Given the description of an element on the screen output the (x, y) to click on. 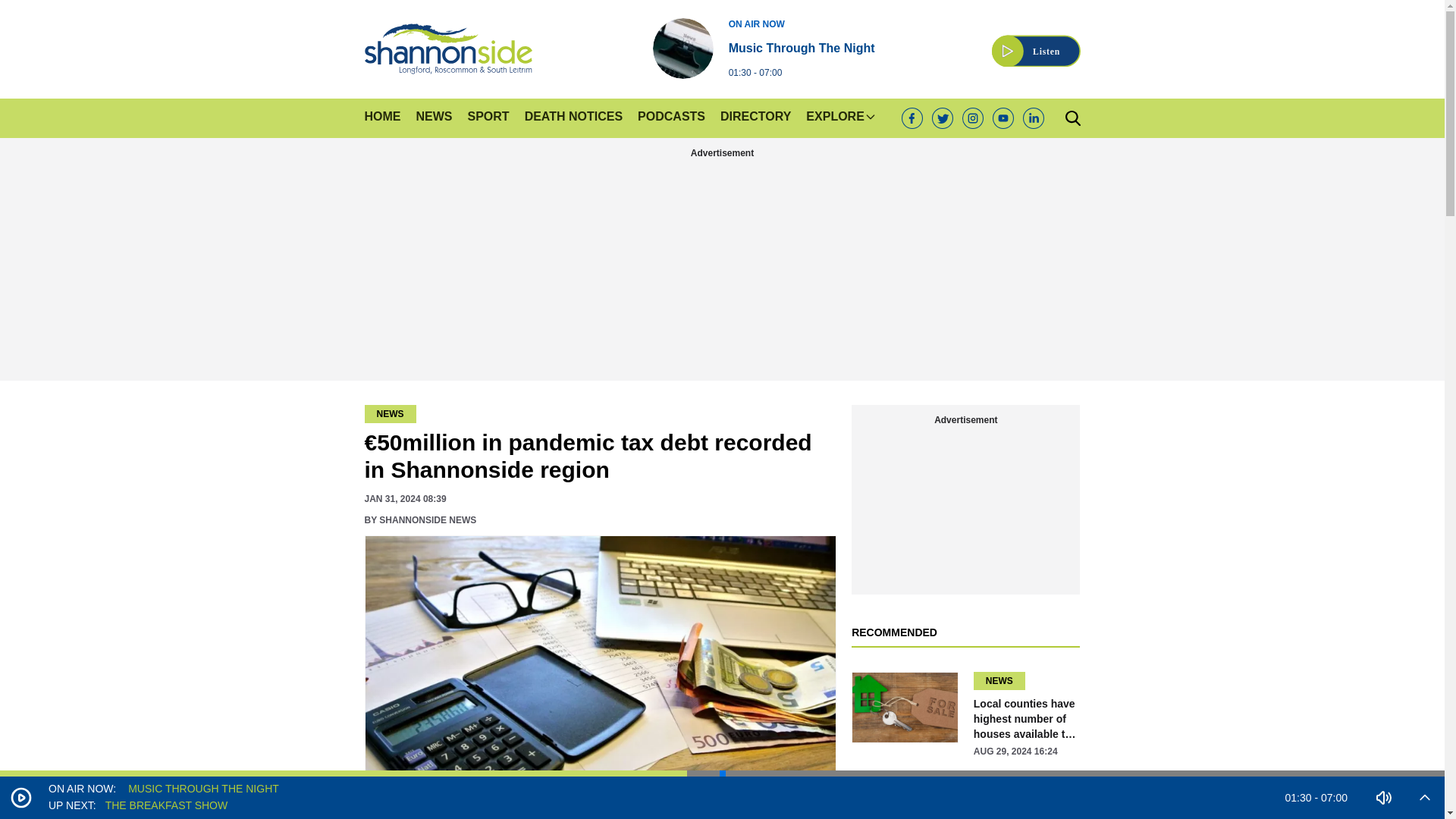
SPORT (487, 118)
DIRECTORY (755, 118)
PODCASTS (670, 118)
Shannonside.ie (447, 47)
Listen (763, 48)
HOME (1035, 42)
DEATH NOTICES (382, 118)
Listen (573, 118)
NEWS (1035, 42)
